Given the description of an element on the screen output the (x, y) to click on. 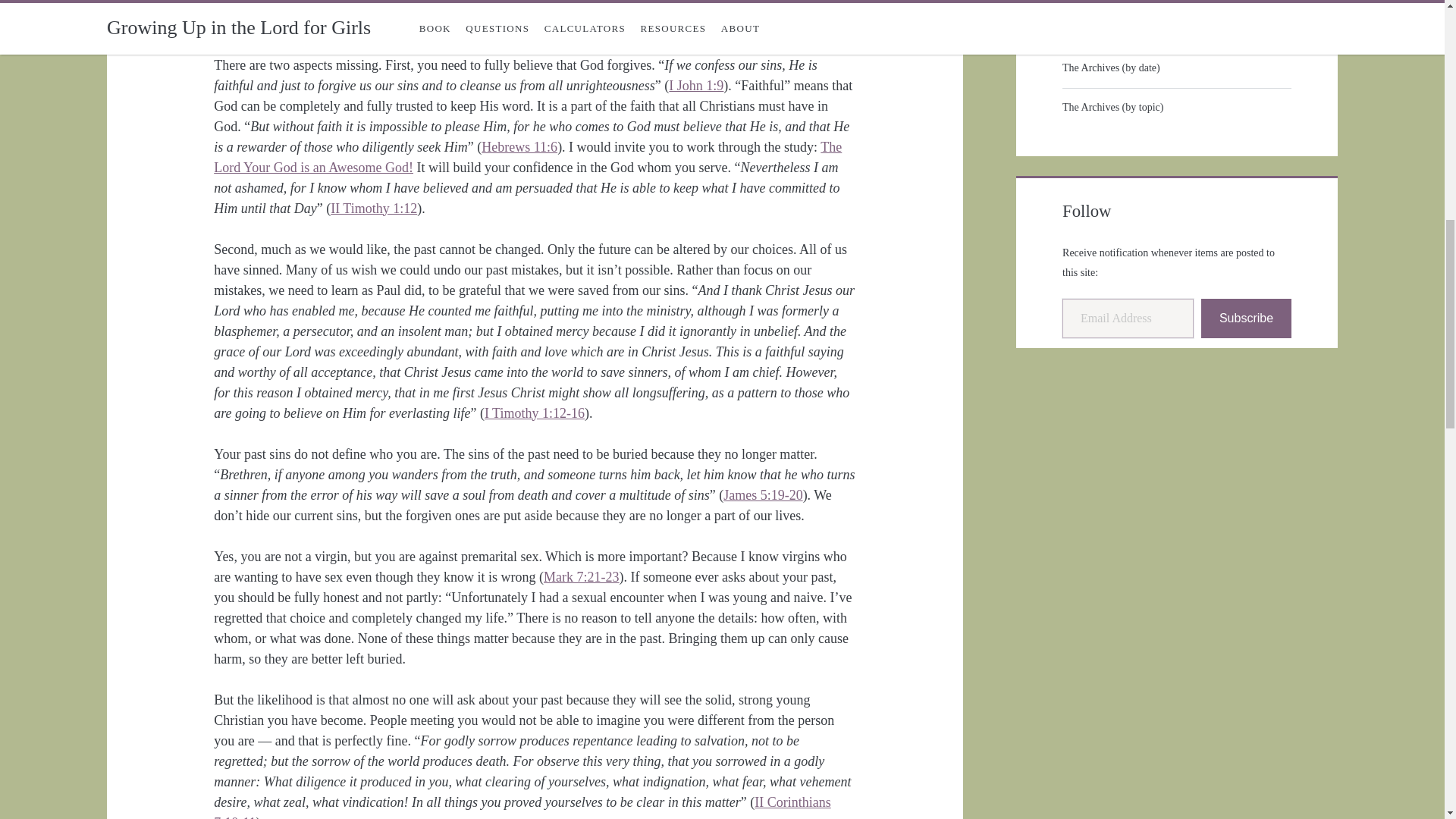
Mark 7:21-23 (580, 576)
The Lord Your God is an Awesome God! (527, 157)
I John 1:9 (695, 85)
Hebrews 11:6 (519, 146)
II Timothy 1:12 (373, 208)
I Timothy 1:12-16 (534, 412)
II Corinthians 7:10-11 (522, 806)
James 5:19-20 (762, 494)
